Given the description of an element on the screen output the (x, y) to click on. 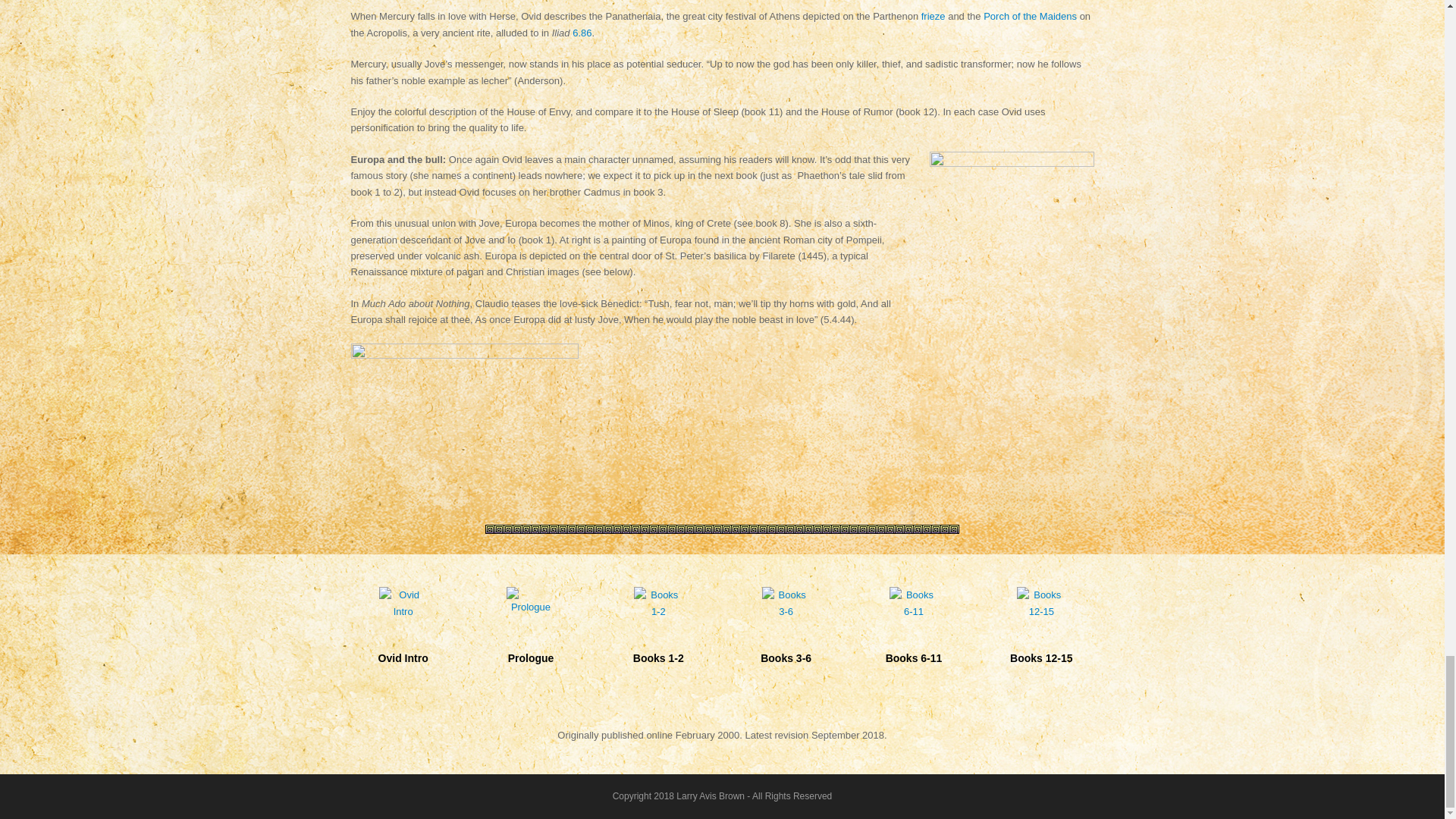
Books 6-11 (913, 636)
Books 1-2 (657, 636)
6.86 (581, 32)
Porch of the Maidens (1030, 16)
frieze (932, 16)
Ovid Intro (402, 636)
Prologue (531, 633)
Books 12-15 (1040, 636)
Books 3-6 (785, 636)
